Given the description of an element on the screen output the (x, y) to click on. 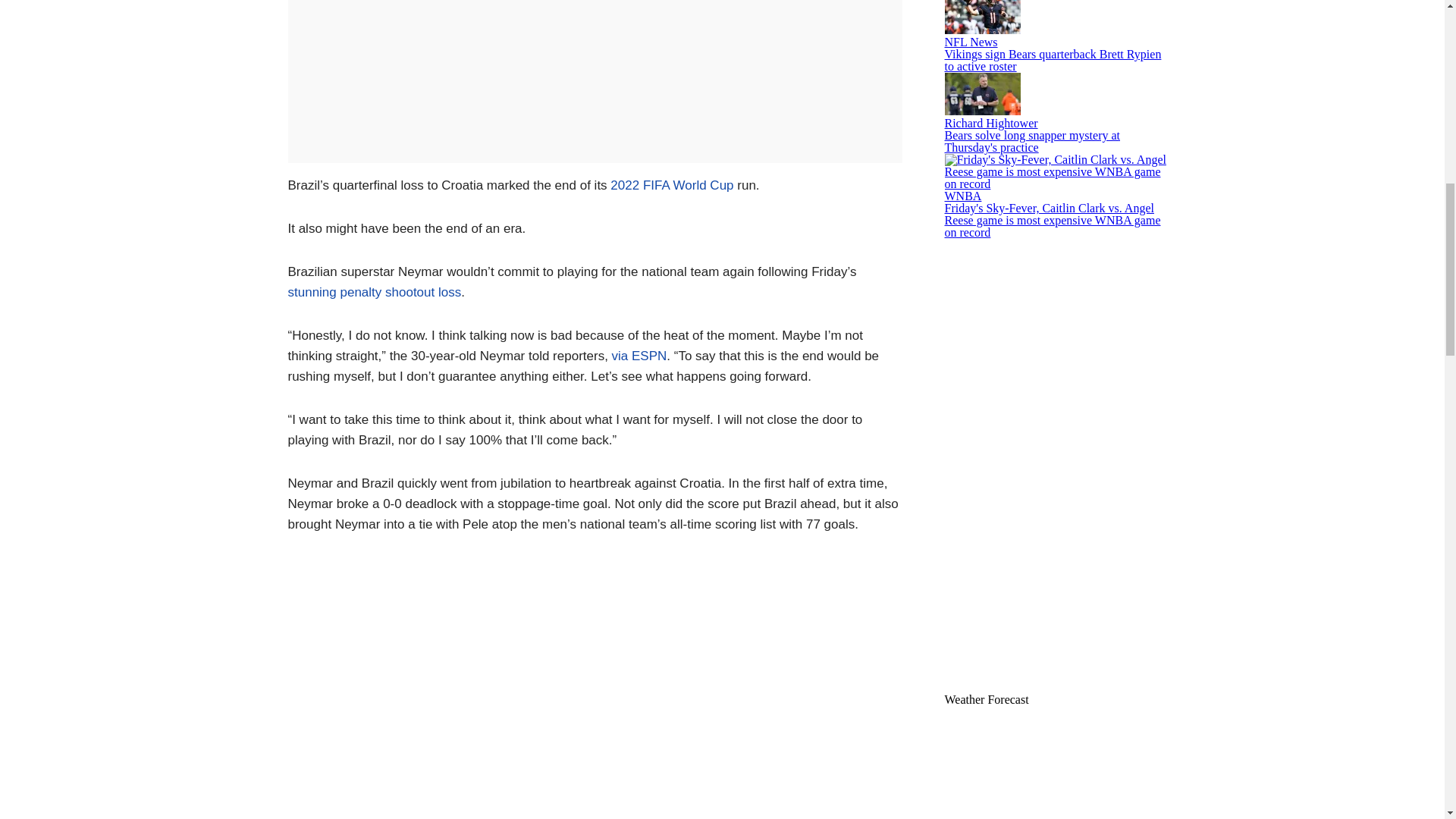
2022 FIFA World Cup (671, 185)
via ESPN (638, 355)
stunning penalty shootout loss (374, 292)
